Given the description of an element on the screen output the (x, y) to click on. 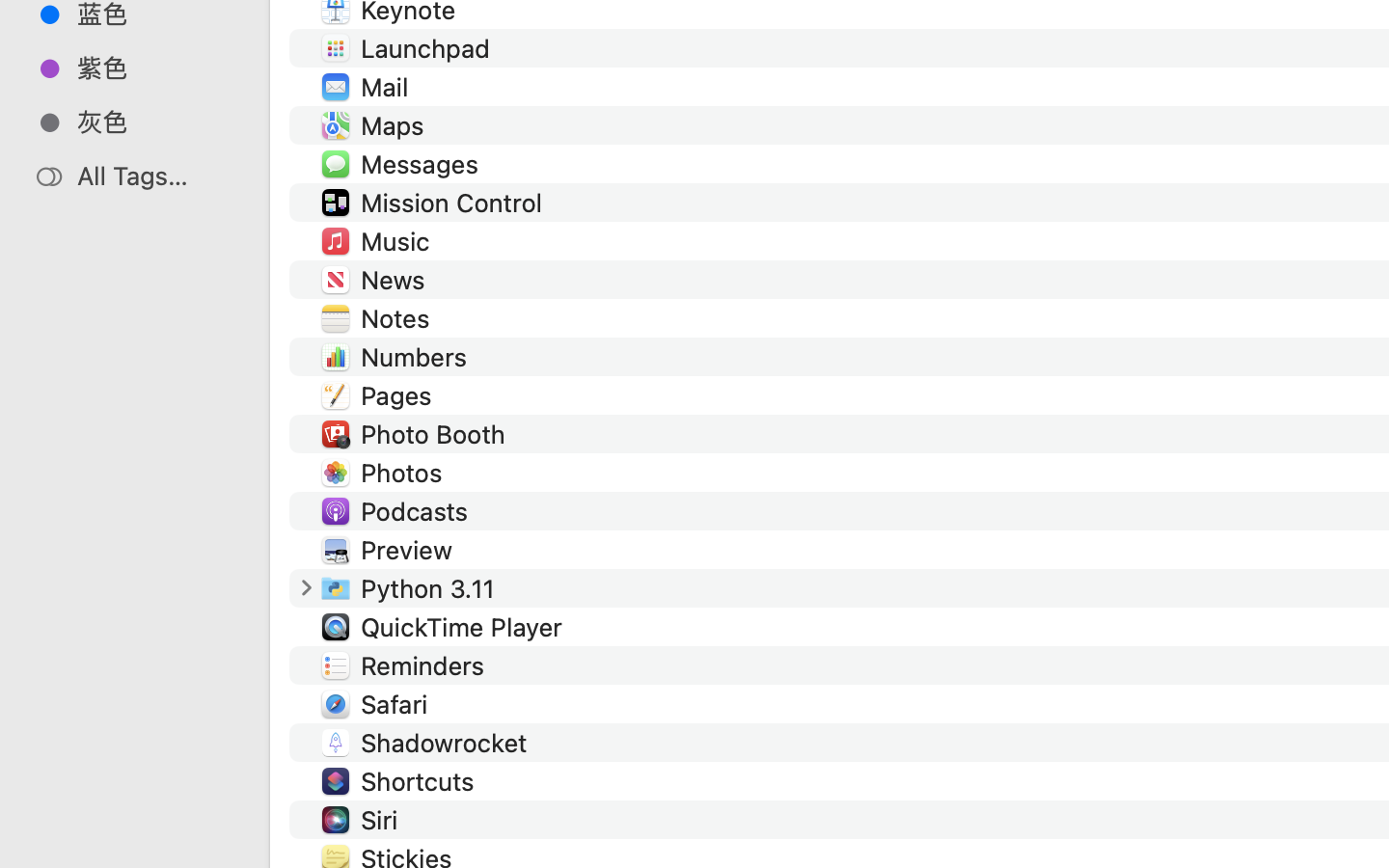
Shortcuts Element type: AXTextField (421, 780)
Podcasts Element type: AXTextField (418, 510)
Tags… Element type: AXStaticText (41, 852)
All Tags… Element type: AXStaticText (155, 175)
灰色 Element type: AXStaticText (155, 121)
